Given the description of an element on the screen output the (x, y) to click on. 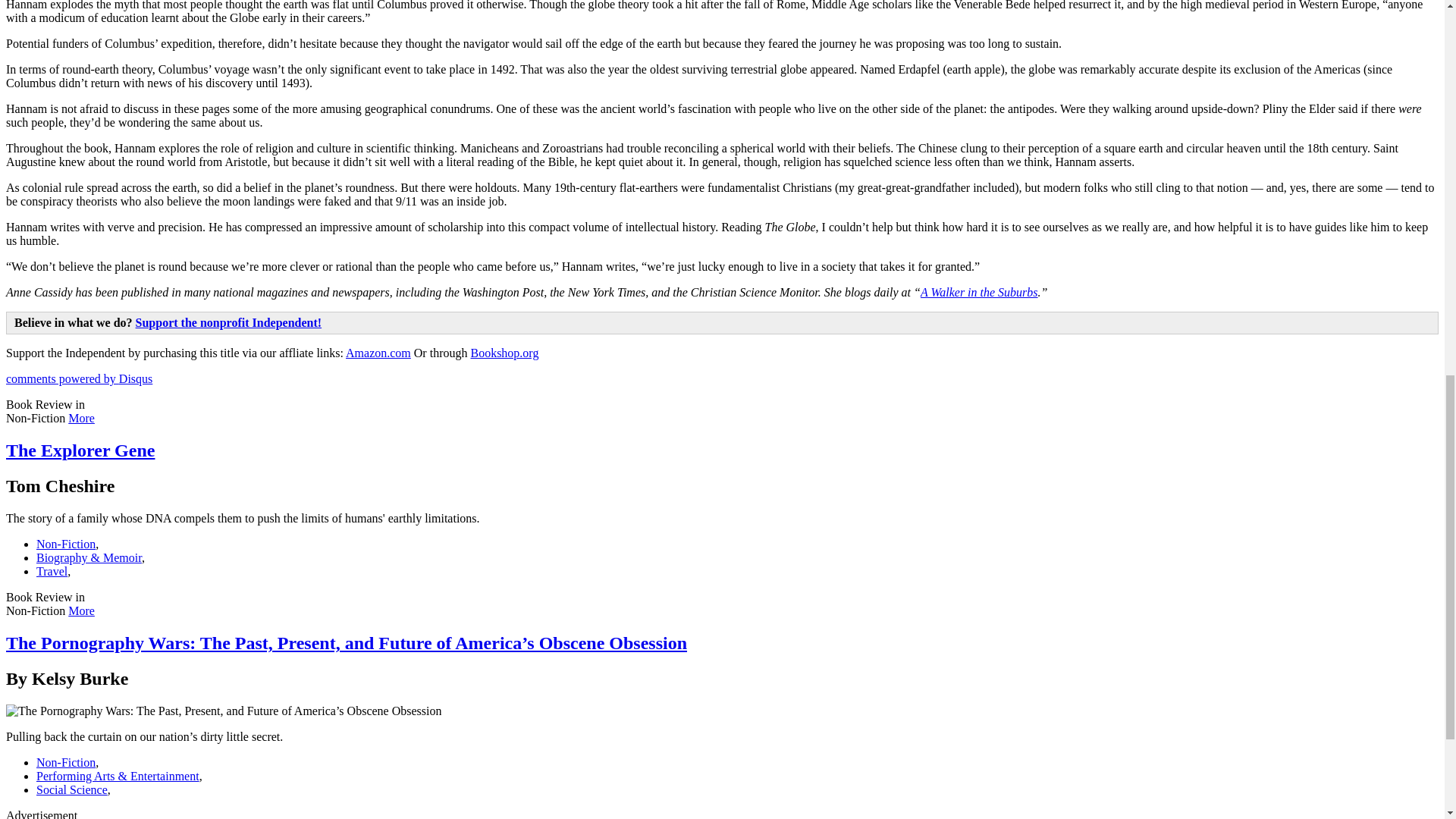
Non-Fiction (66, 543)
The Explorer Gene (79, 450)
comments powered by Disqus (78, 378)
More (81, 610)
Travel (51, 571)
Social Science (71, 789)
Support the nonprofit Independent! (228, 322)
Non-Fiction (66, 762)
Bookshop.org (504, 352)
A Walker in the Suburbs (979, 291)
Amazon.com (378, 352)
More (81, 418)
